Given the description of an element on the screen output the (x, y) to click on. 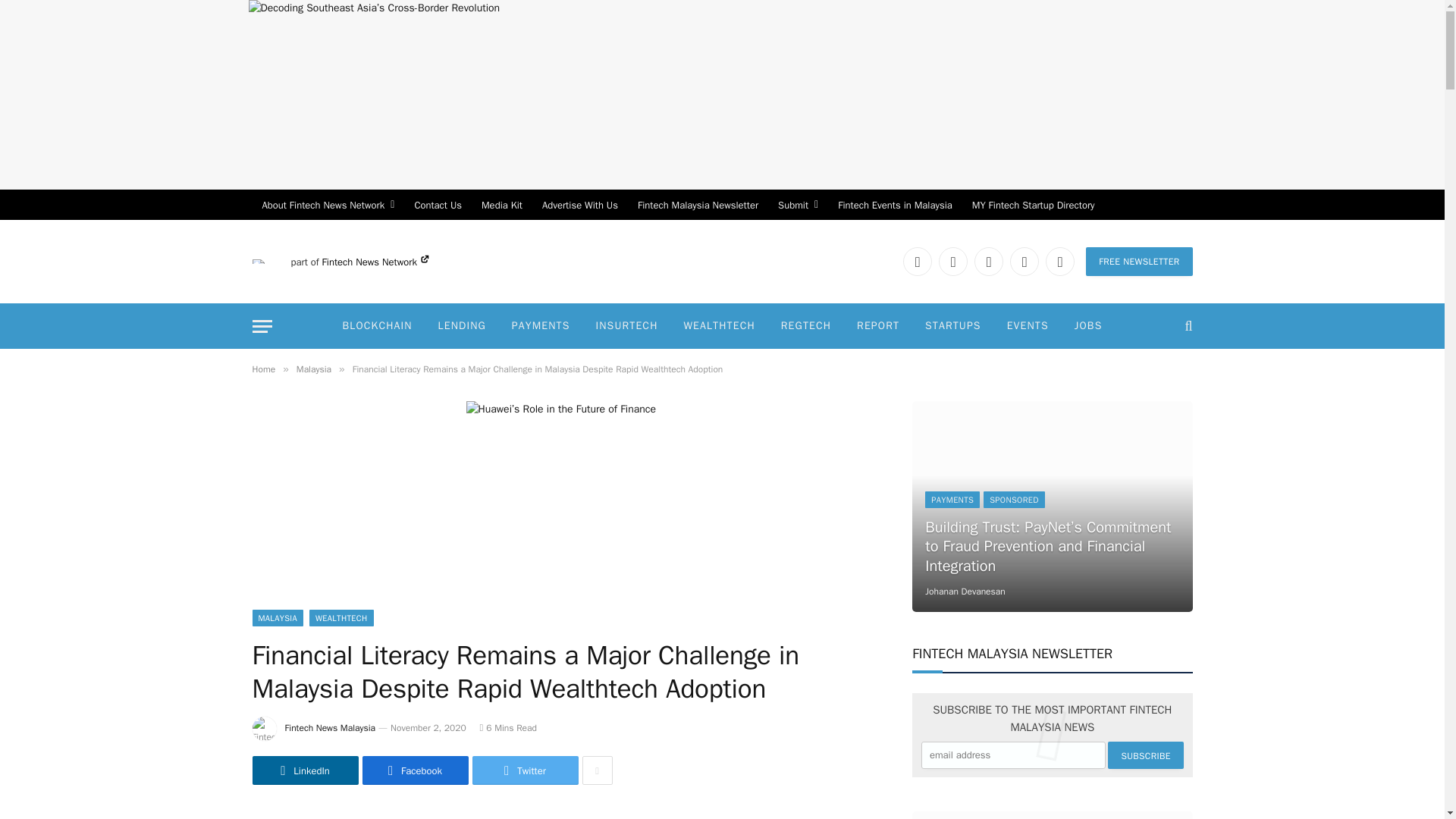
Contact Us (437, 204)
Fintech News Network (375, 261)
MY Fintech Startup Directory (1033, 204)
Fintech News Malaysia (257, 261)
Share on LinkedIn (304, 769)
Fintech Malaysia Newsletter (697, 204)
Search (1186, 326)
Fintech Events in Malaysia (895, 204)
Submit (798, 204)
Posts by Fintech News Malaysia (330, 727)
Subscribe (1145, 755)
Facebook (953, 261)
Advertise With Us (579, 204)
Media Kit (501, 204)
